Given the description of an element on the screen output the (x, y) to click on. 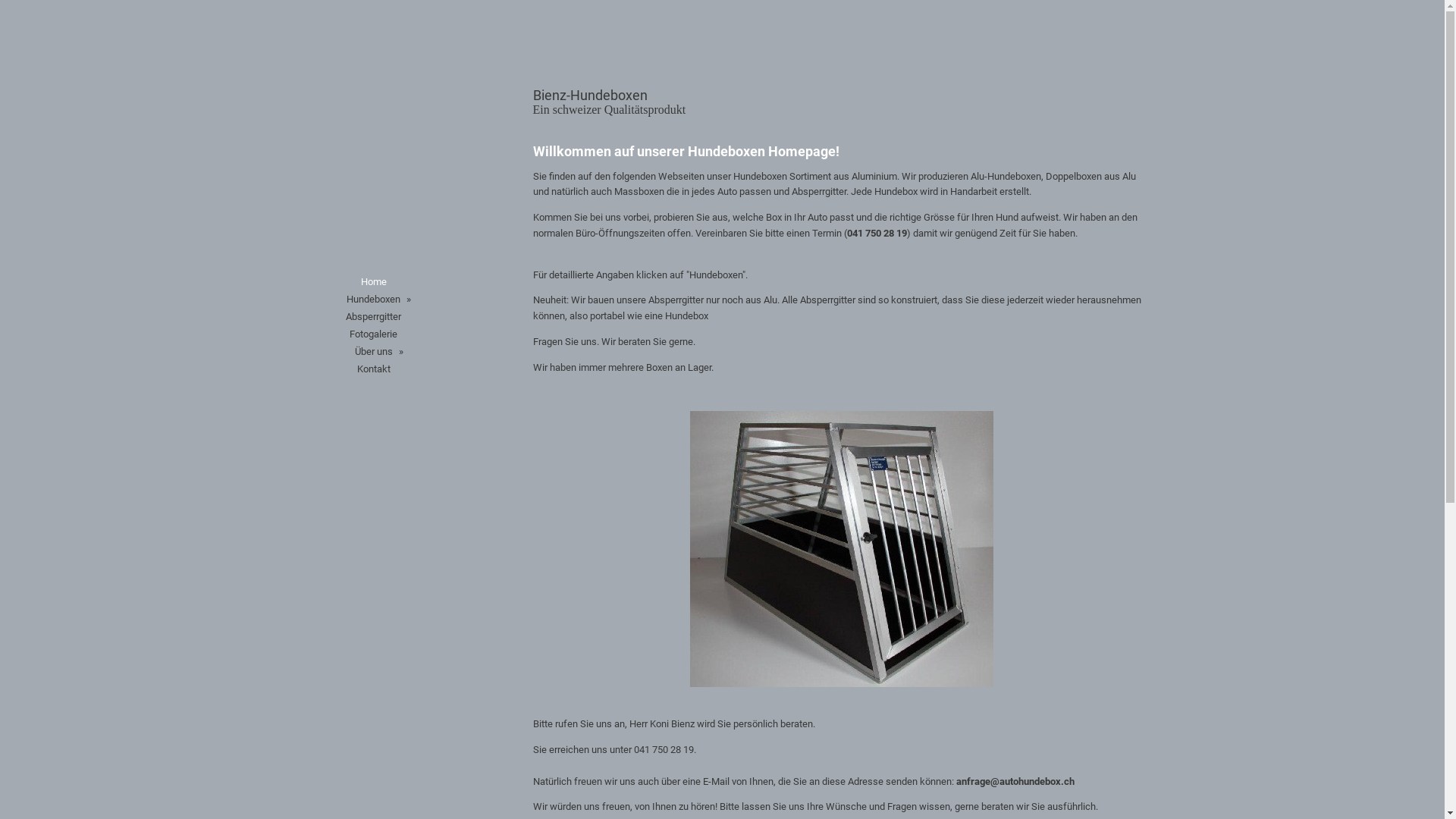
Absperrgitter Element type: text (372, 316)
Fotogalerie Element type: text (372, 333)
Hundeboxen Element type: text (372, 298)
Kontakt Element type: text (372, 368)
Home Element type: text (372, 281)
